Given the description of an element on the screen output the (x, y) to click on. 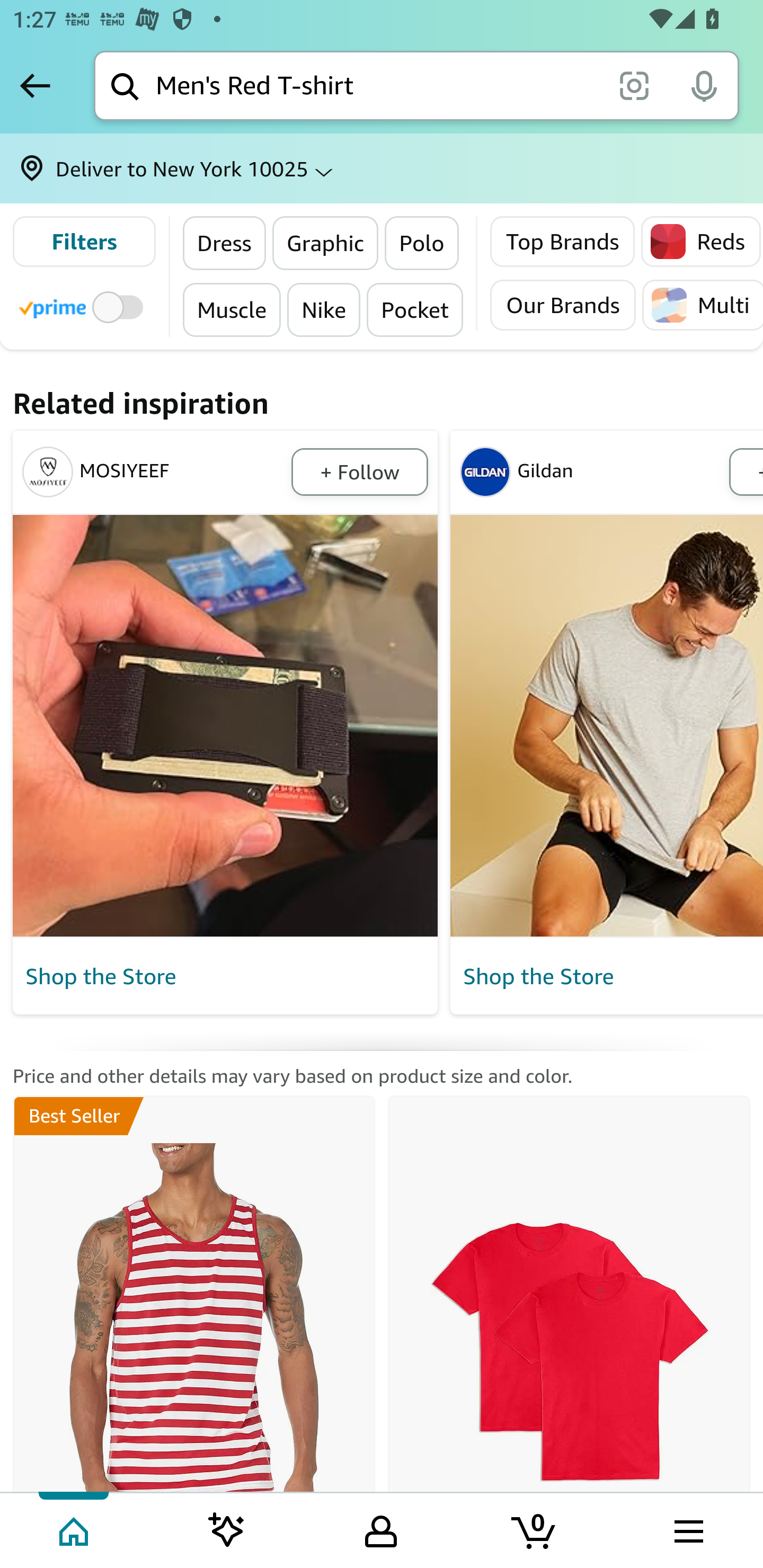
Back (35, 85)
scan it (633, 85)
Deliver to New York 10025 ⌵ (381, 168)
Filters (83, 241)
Dress (225, 242)
Graphic (325, 242)
Polo (421, 242)
Top Brands (562, 241)
Reds Reds Reds Reds (700, 241)
Toggle to filter by Prime products Prime Eligible (83, 306)
Our Brands (562, 304)
Multi Multi Multi Multi (701, 304)
Muscle (232, 309)
Nike (323, 309)
Pocket (414, 309)
MOSIYEEF (154, 471)
Gildan (591, 471)
Follow the brand (359, 471)
Content Image (225, 725)
Content Image (606, 725)
Shop the Store (225, 976)
Shop the Store (609, 976)
Home Tab 1 of 5 (75, 1529)
Inspire feed Tab 2 of 5 (227, 1529)
Your Amazon.com Tab 3 of 5 (380, 1529)
Cart 0 item Tab 4 of 5 0 (534, 1529)
Browse menu Tab 5 of 5 (687, 1529)
